Given the description of an element on the screen output the (x, y) to click on. 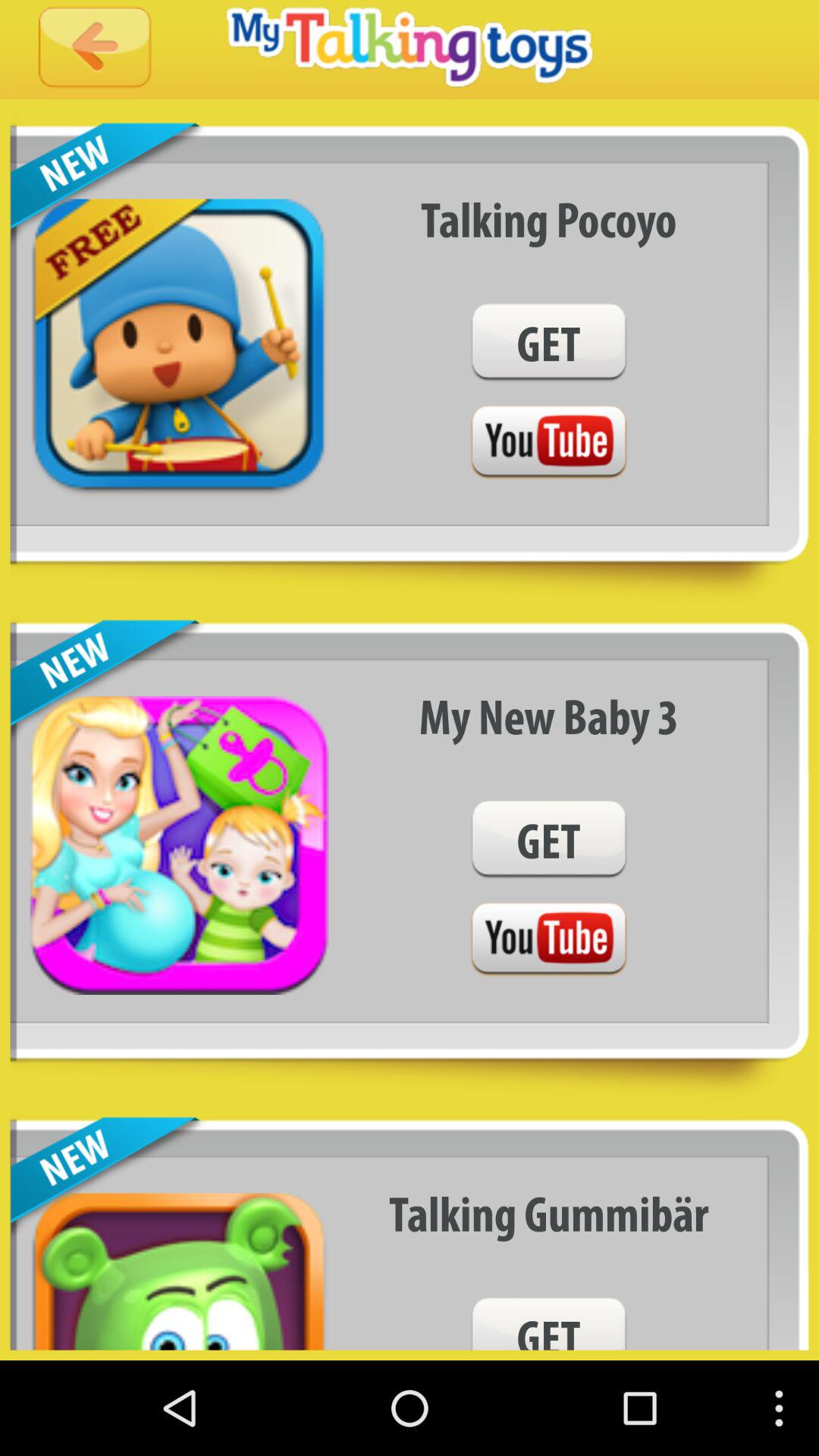
go to youtube (548, 442)
